Given the description of an element on the screen output the (x, y) to click on. 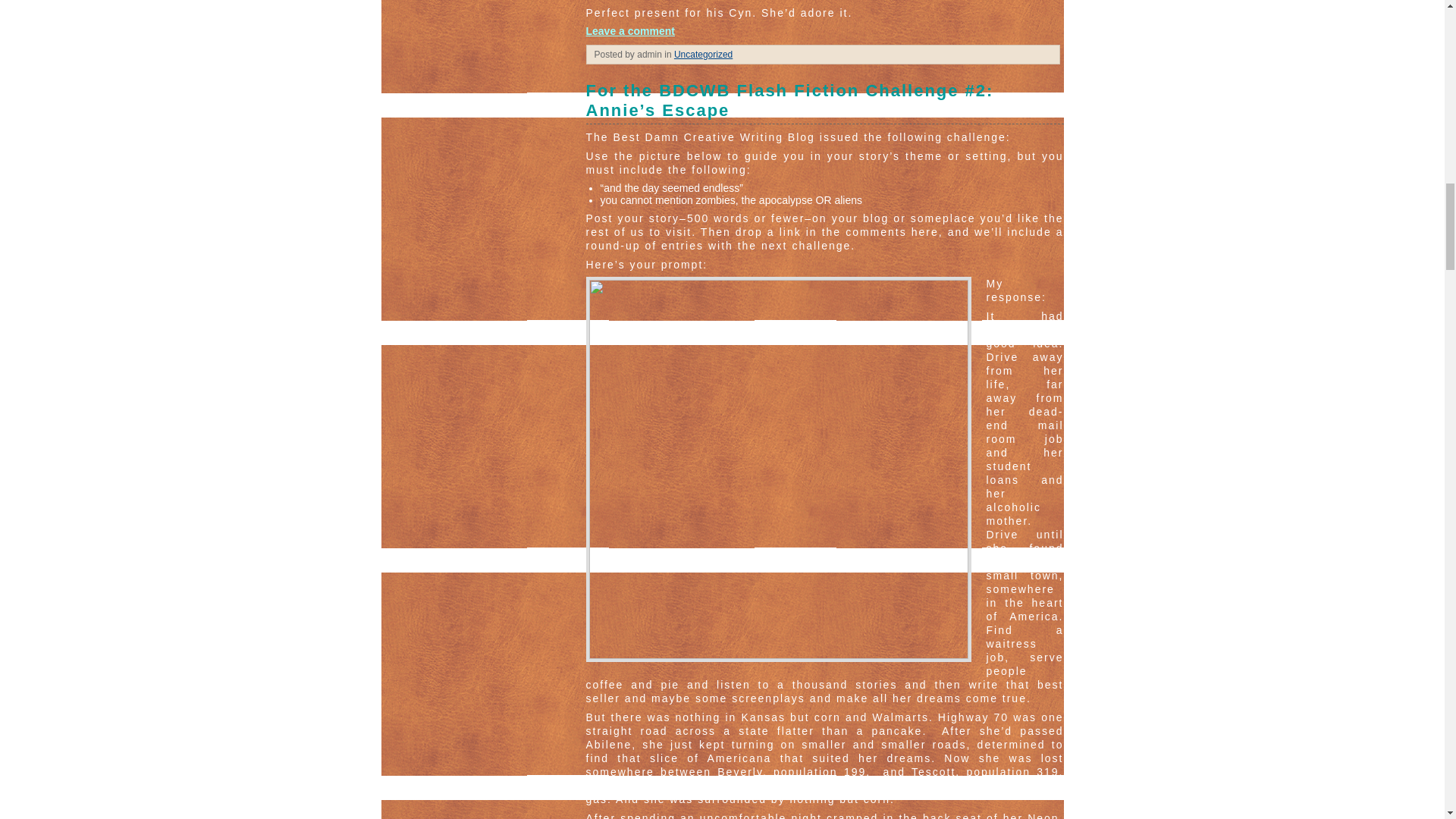
Leave a comment (630, 30)
Uncategorized (703, 54)
